Given the description of an element on the screen output the (x, y) to click on. 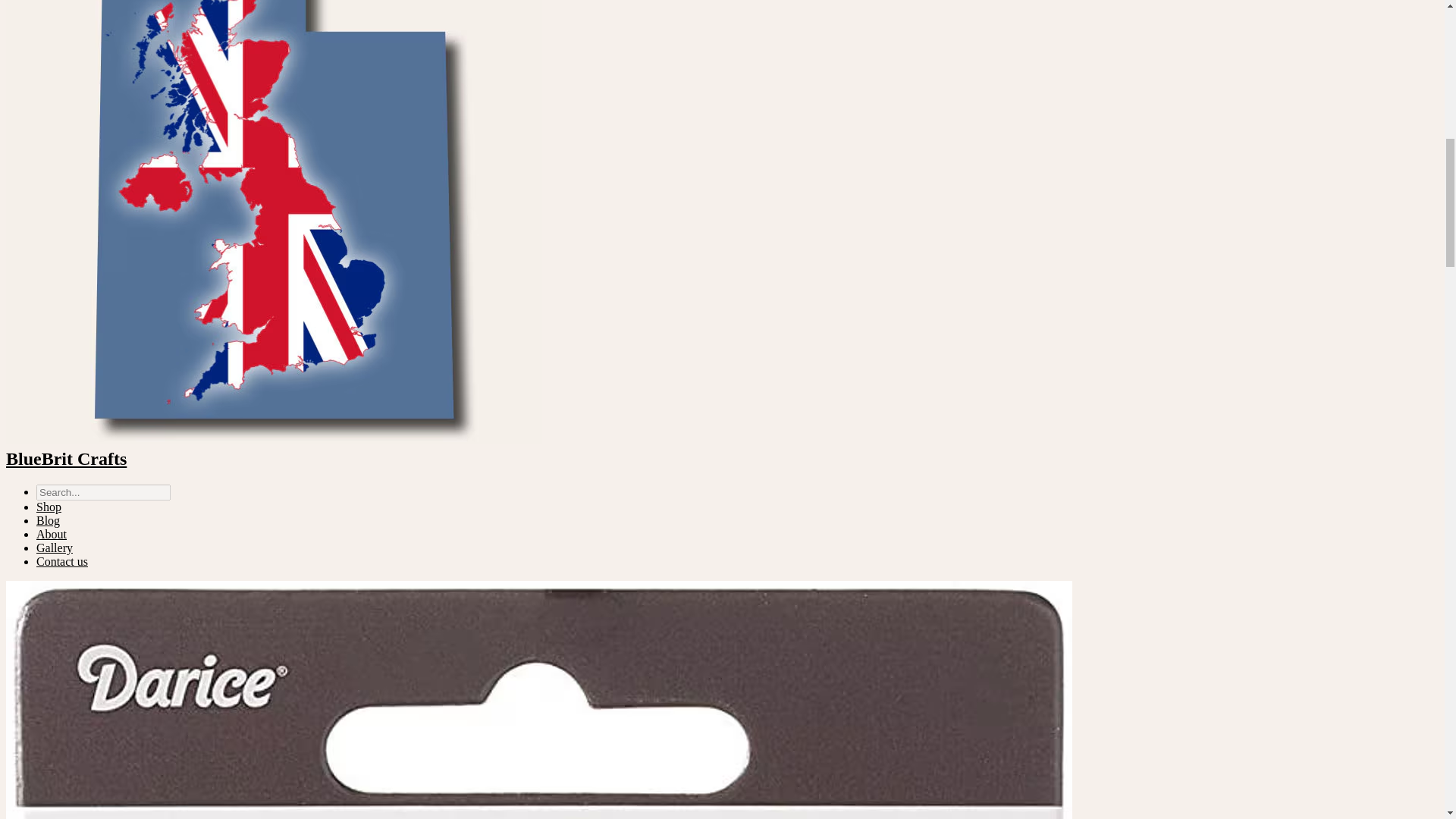
Shop (48, 506)
About (51, 533)
Gallery (54, 547)
Blog (47, 520)
Contact us (61, 561)
